Given the description of an element on the screen output the (x, y) to click on. 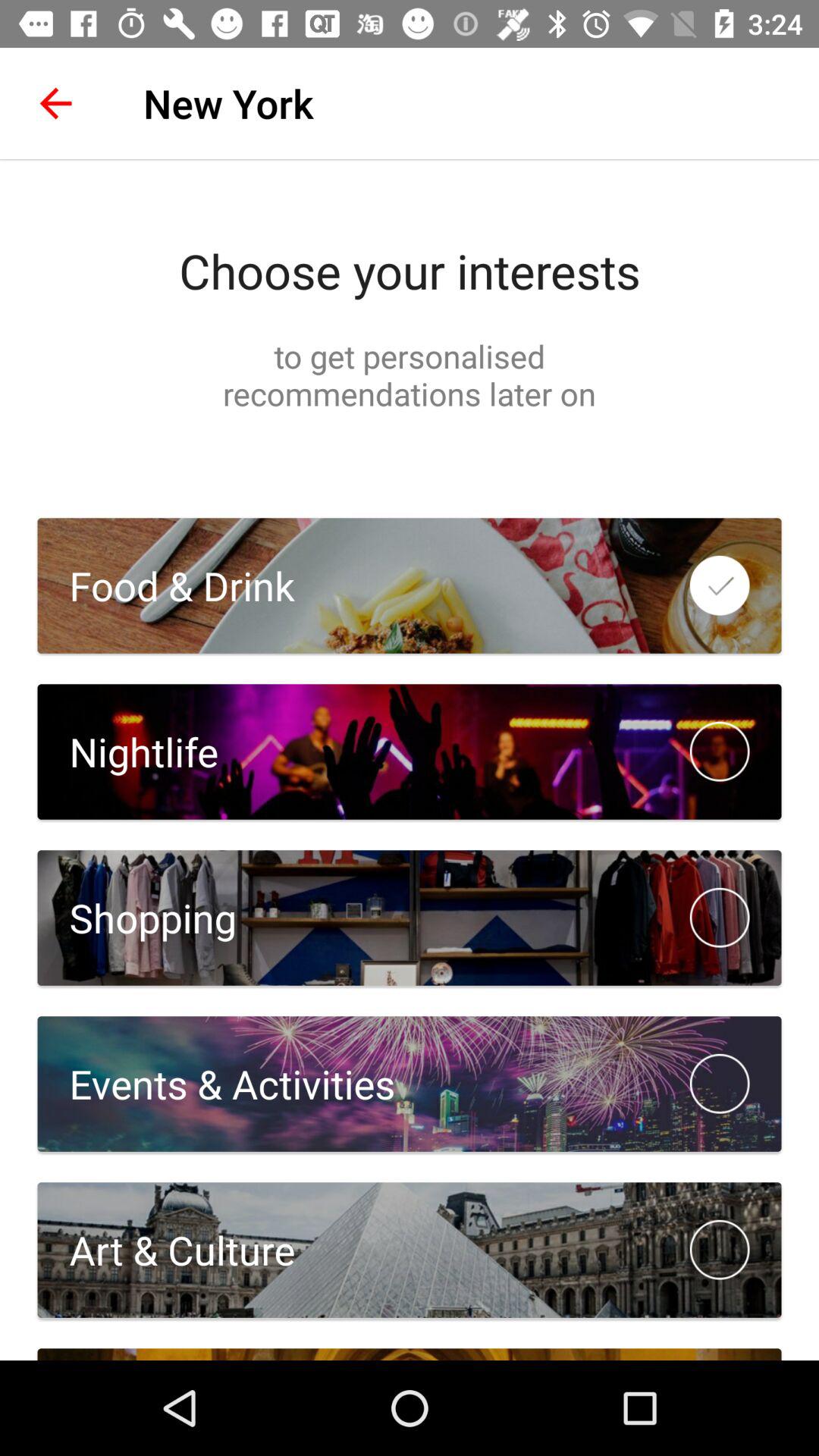
flip until the nightlife item (127, 751)
